Given the description of an element on the screen output the (x, y) to click on. 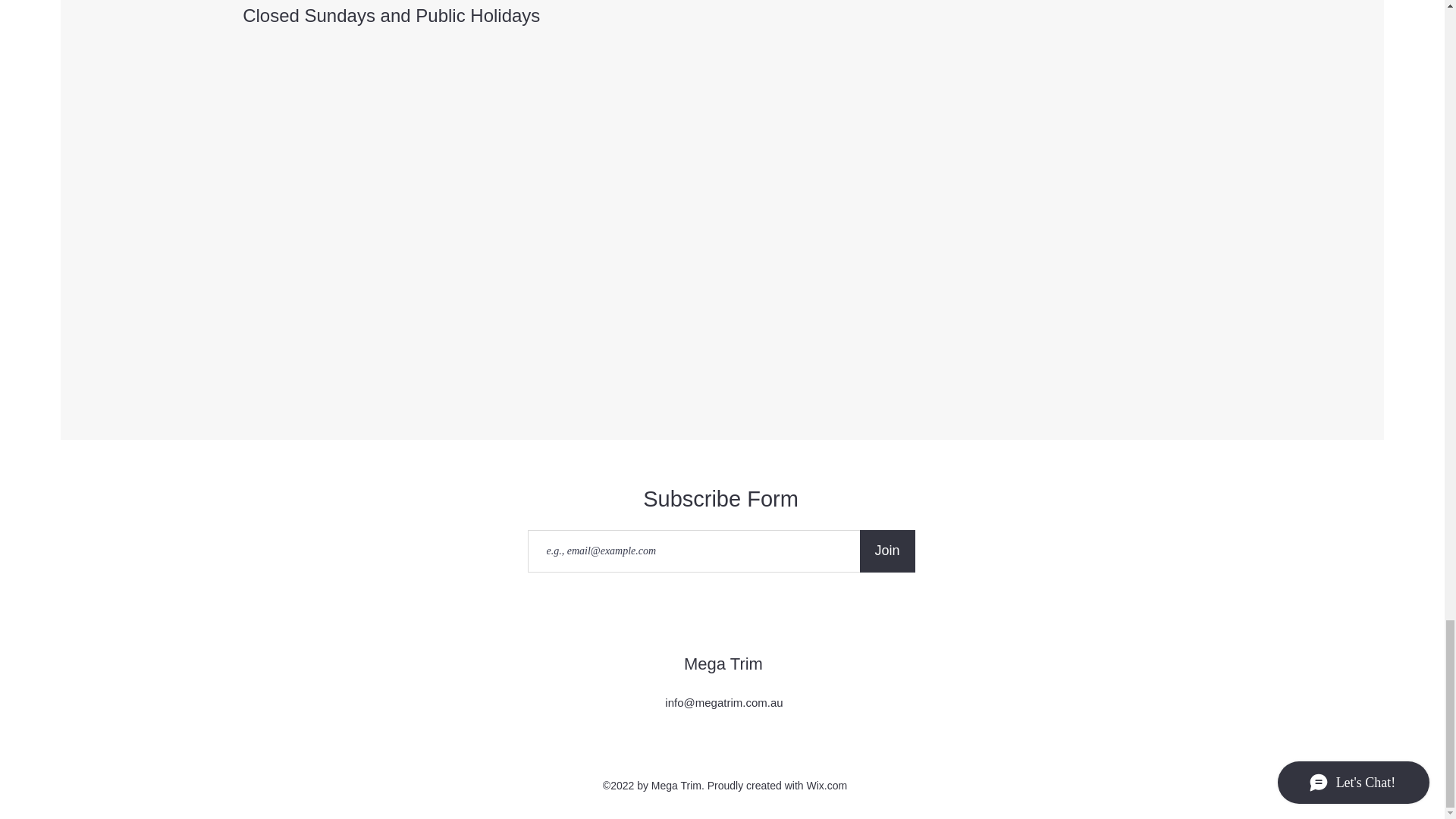
Join (887, 550)
